Given the description of an element on the screen output the (x, y) to click on. 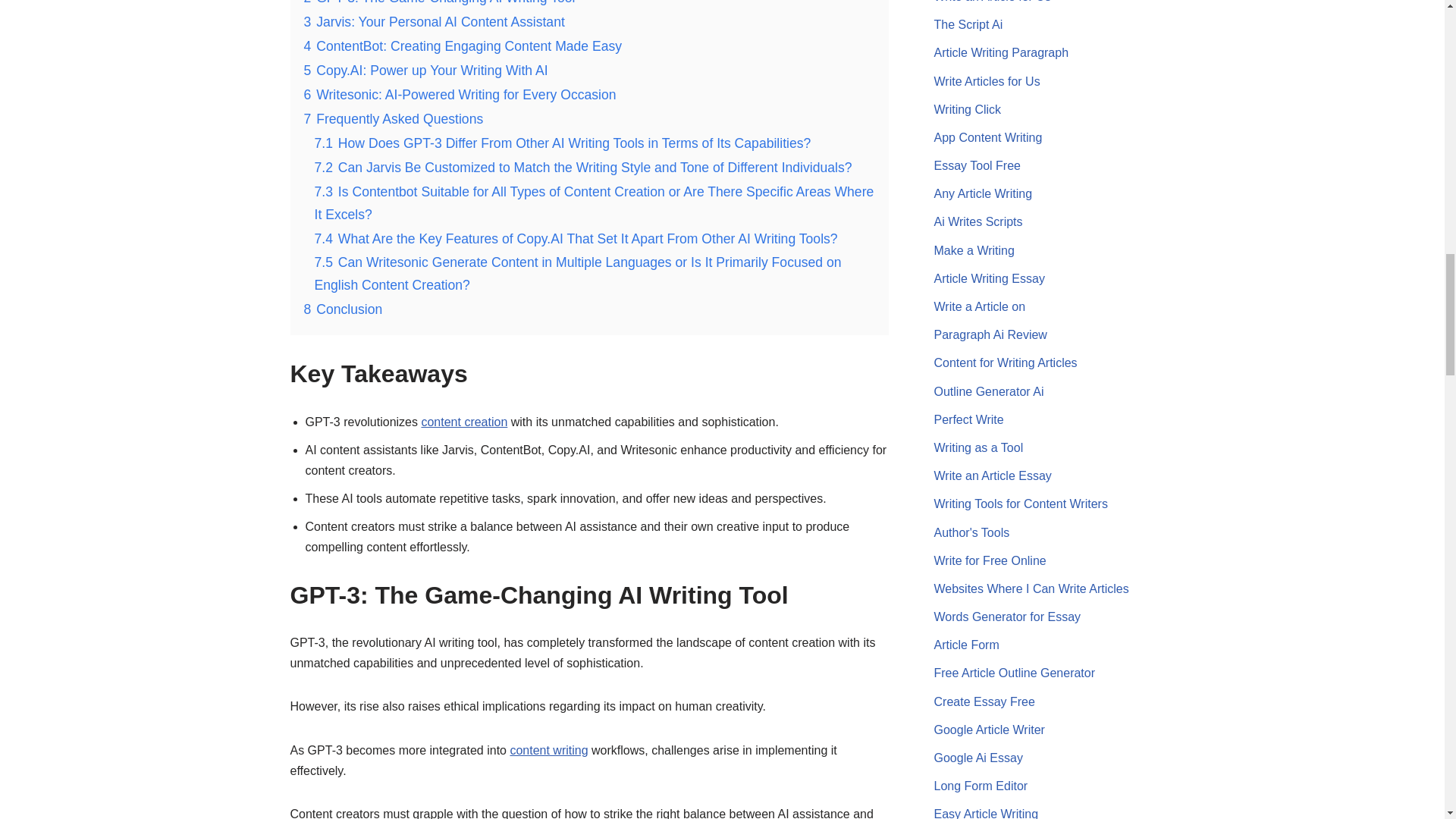
5 Copy.AI: Power up Your Writing With AI (424, 70)
4 ContentBot: Creating Engaging Content Made Easy (461, 46)
3 Jarvis: Your Personal AI Content Assistant (433, 21)
2 GPT-3: The Game-Changing AI Writing Tool (438, 2)
6 Writesonic: AI-Powered Writing for Every Occasion (458, 94)
7 Frequently Asked Questions (392, 118)
